Given the description of an element on the screen output the (x, y) to click on. 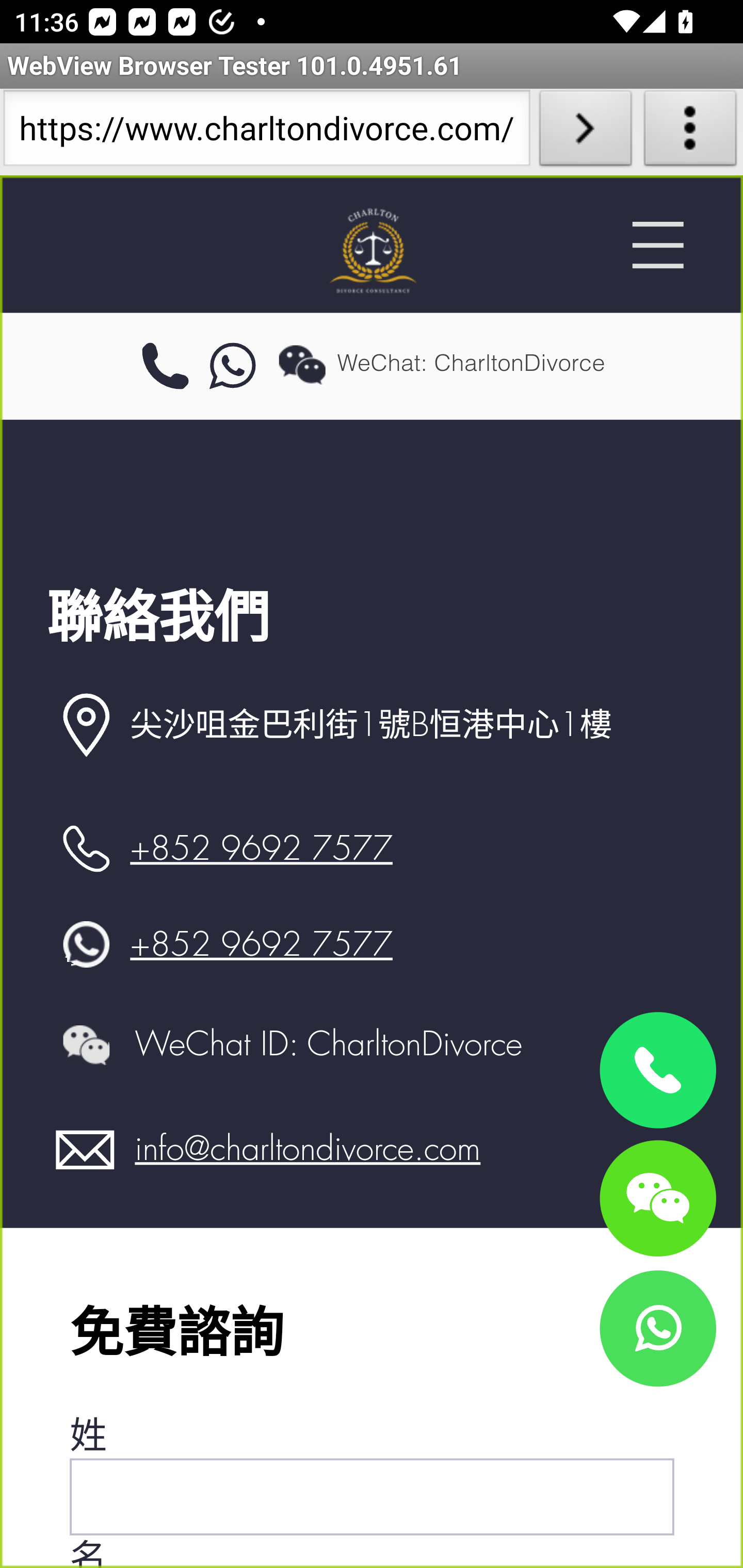
Load URL (585, 132)
About WebView (690, 132)
Open navigation menu (657, 245)
500x500 沒背景.png (371, 249)
tel:+852 9692 7577 (164, 366)
o7rumn (232, 366)
wechat2_edited_edited.png (301, 364)
+852 9692 7577 (261, 848)
+852 9692 7577 (261, 943)
Phone (657, 1070)
wechat2_edited_edited.png (85, 1043)
info@charltondivorce.com (307, 1148)
mailto:info@charltondivorce (85, 1149)
WeChat: CharltonDivorce (657, 1196)
WhatsApp (657, 1327)
